Given the description of an element on the screen output the (x, y) to click on. 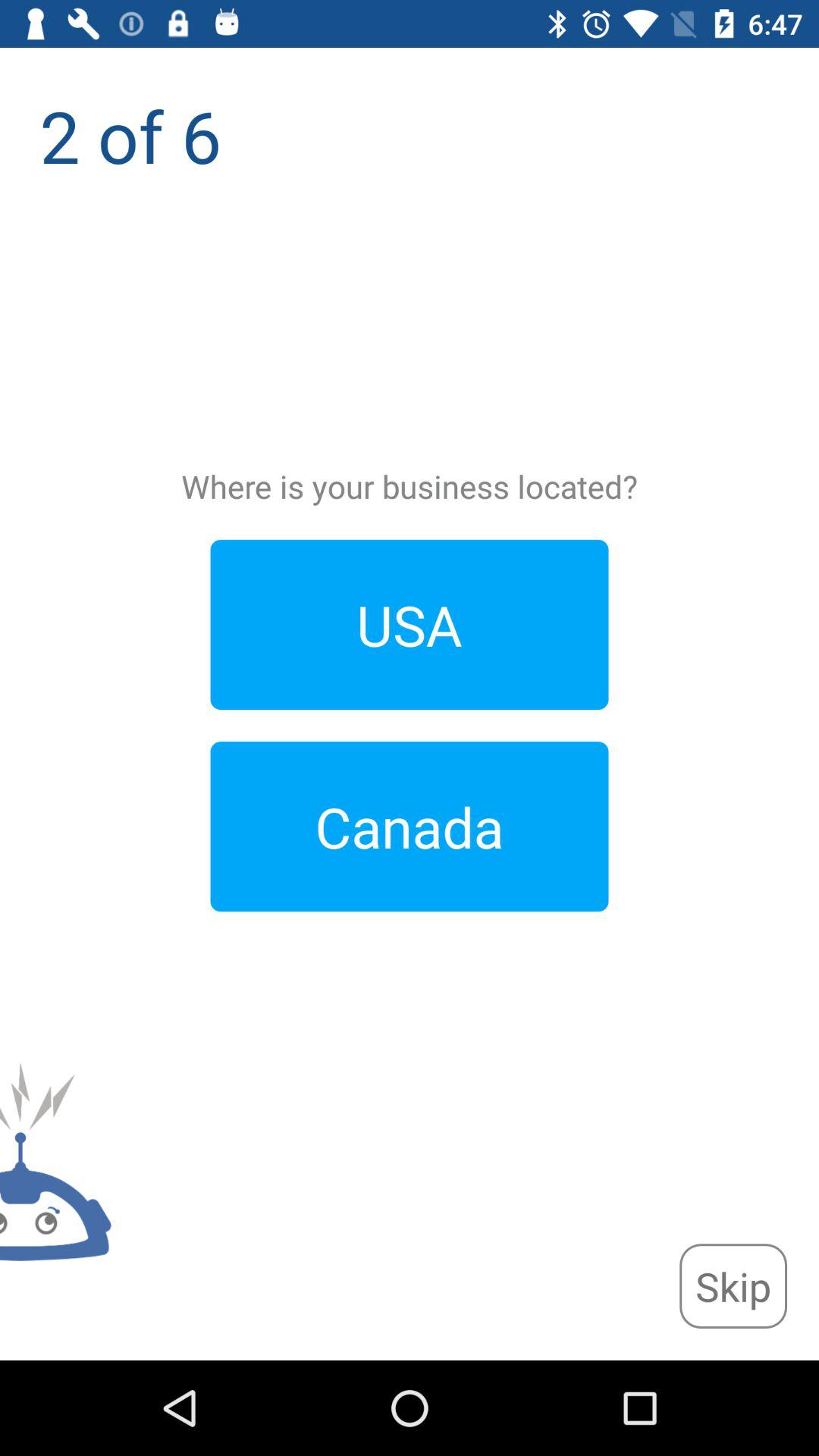
tap the icon at the bottom right corner (733, 1285)
